Given the description of an element on the screen output the (x, y) to click on. 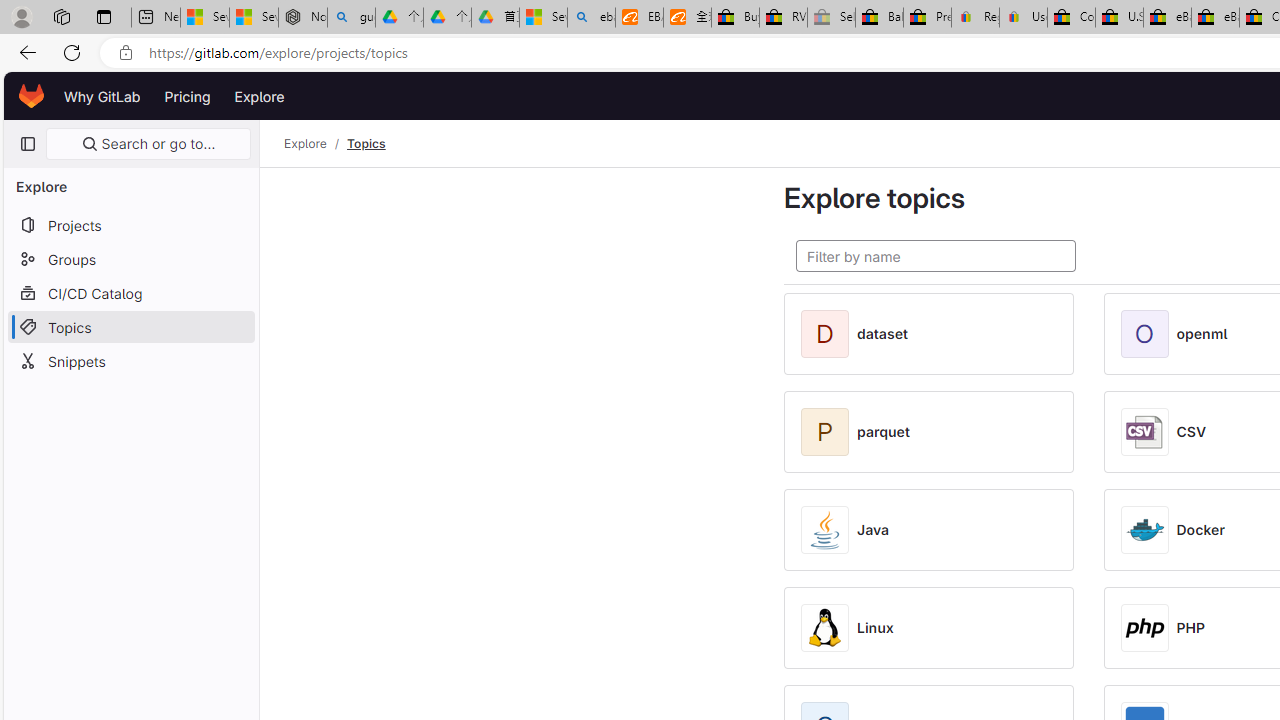
Linux (875, 628)
openml (1201, 333)
Topics (366, 143)
Register: Create a personal eBay account (975, 17)
CI/CD Catalog (130, 292)
RV, Trailer & Camper Steps & Ladders for sale | eBay (783, 17)
dataset (882, 333)
Snippets (130, 360)
Homepage (31, 95)
guge yunpan - Search (351, 17)
